Given the description of an element on the screen output the (x, y) to click on. 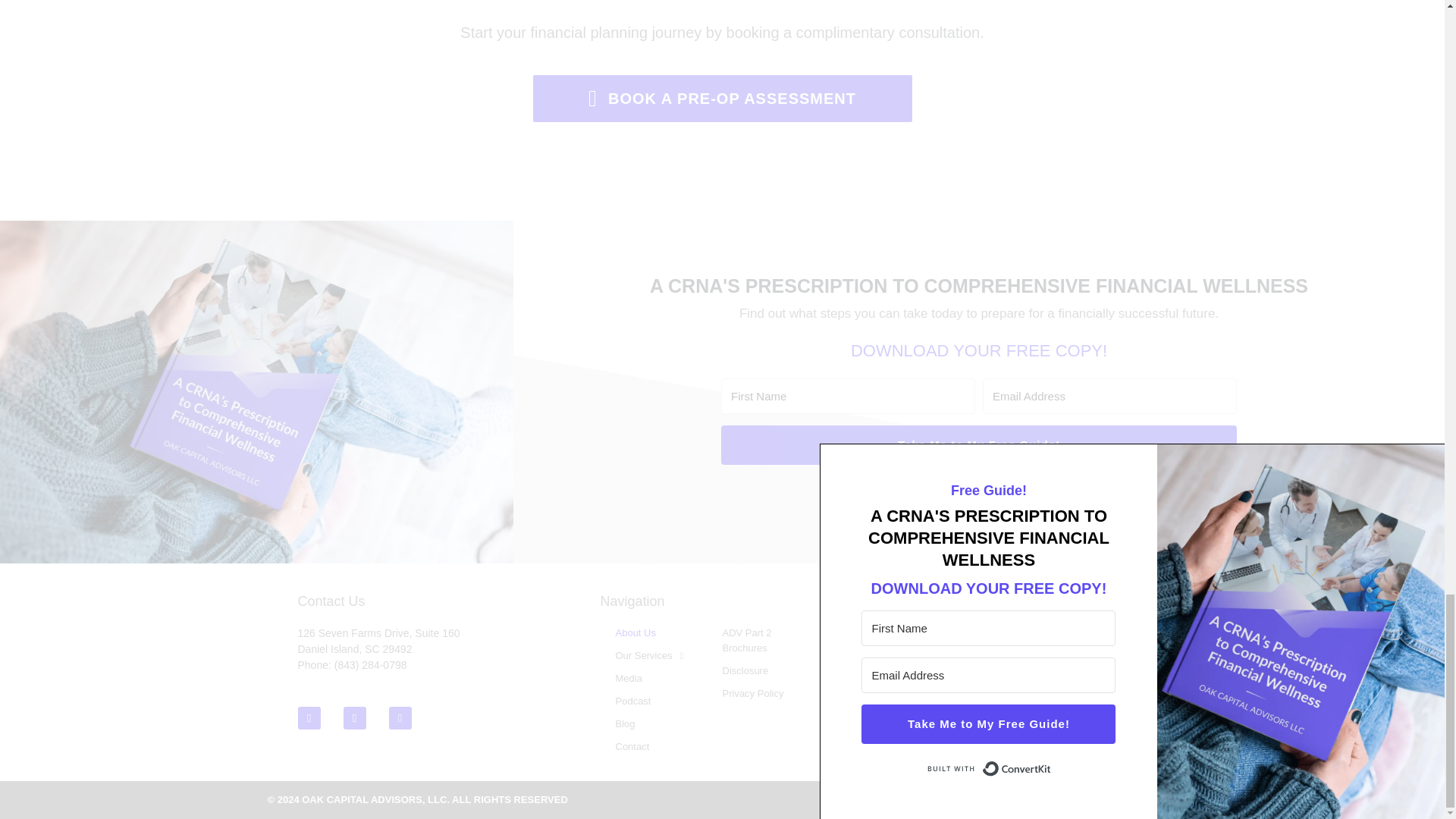
Built with ConvertKit (978, 489)
Take Me to My Free Guide! (978, 445)
Twitter (399, 717)
BOOK A PRE-OP ASSESSMENT (721, 98)
Linkedin (308, 717)
Facebook (353, 717)
Our Services (653, 655)
Contact Us (331, 601)
About Us (653, 632)
